Given the description of an element on the screen output the (x, y) to click on. 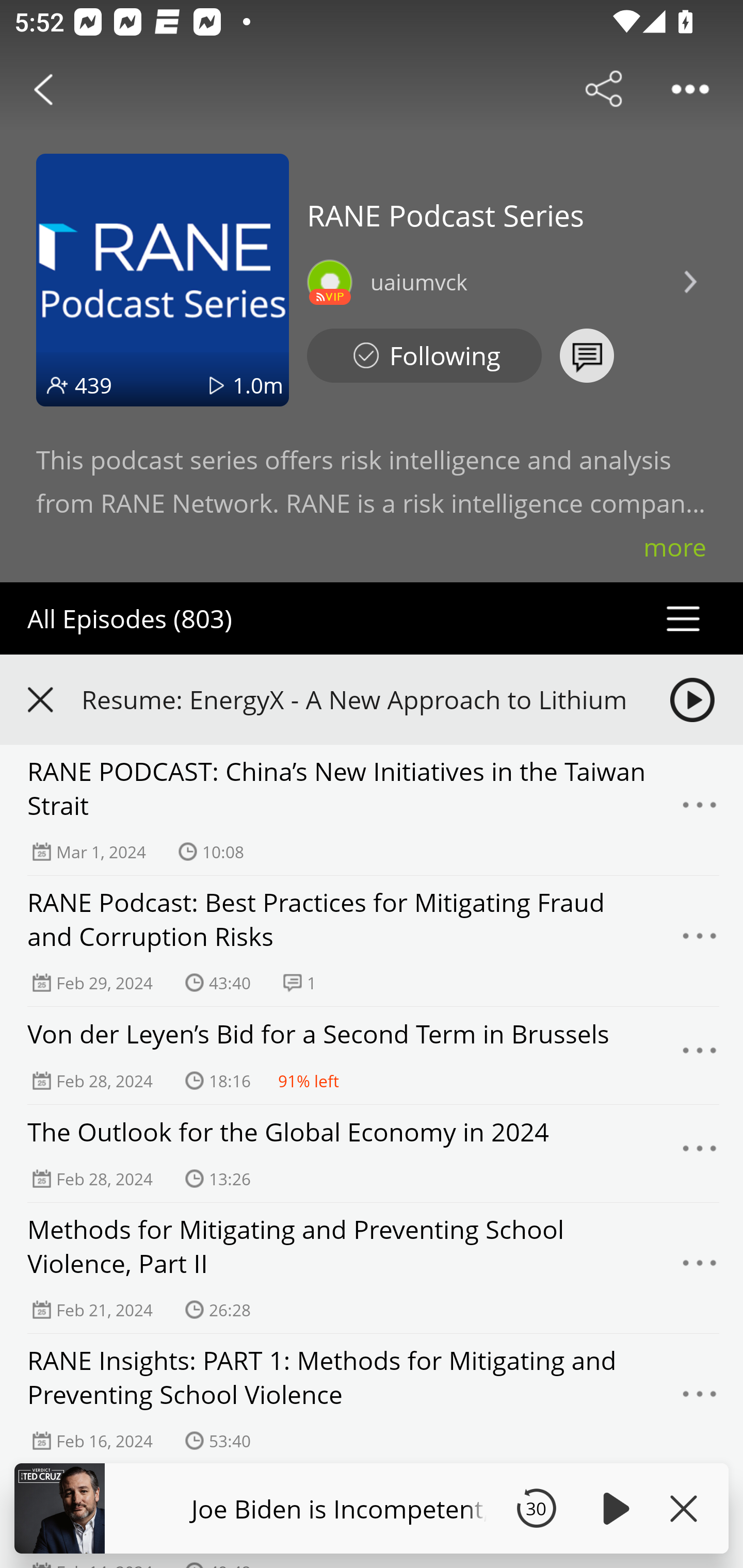
Back (43, 88)
Podbean Following (423, 355)
439 (93, 384)
more (674, 546)
Resume: EnergyX - A New Approach to Lithium (371, 698)
Resume: EnergyX - A New Approach to Lithium (357, 698)
Menu (699, 809)
Menu (699, 941)
Menu (699, 1055)
Menu (699, 1153)
Menu (699, 1268)
Menu (699, 1399)
Play (613, 1507)
30 Seek Backward (536, 1508)
